Given the description of an element on the screen output the (x, y) to click on. 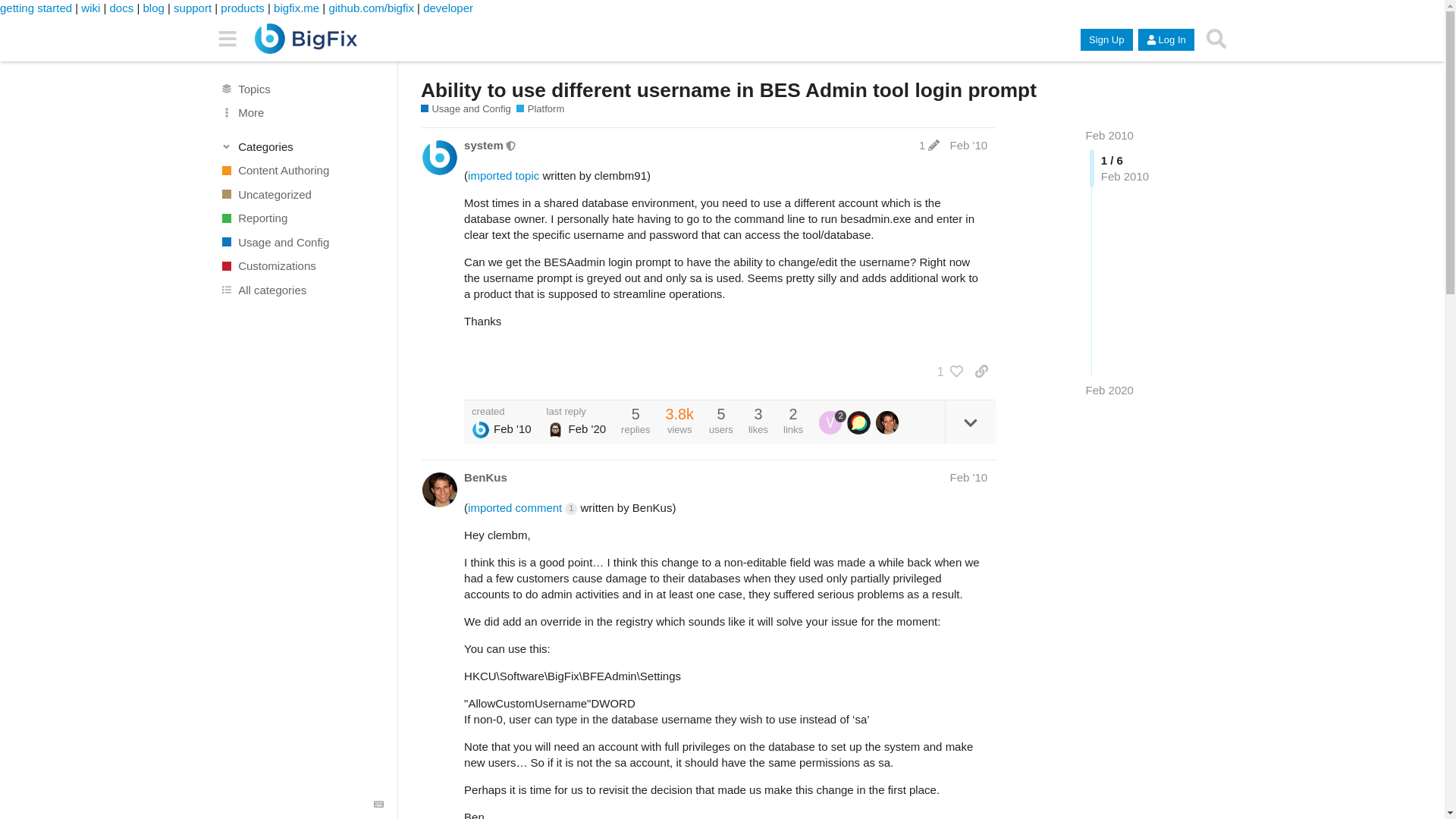
getting started (35, 7)
post last edited on Dec 9, 2017 1:32 am (928, 144)
developer (448, 7)
Toggle section (301, 145)
1 (946, 371)
docs (121, 7)
All topics (301, 88)
Search (1215, 38)
Uncategorized (301, 193)
bigfix.me (295, 7)
Platform (540, 109)
Customizations (301, 265)
